Given the description of an element on the screen output the (x, y) to click on. 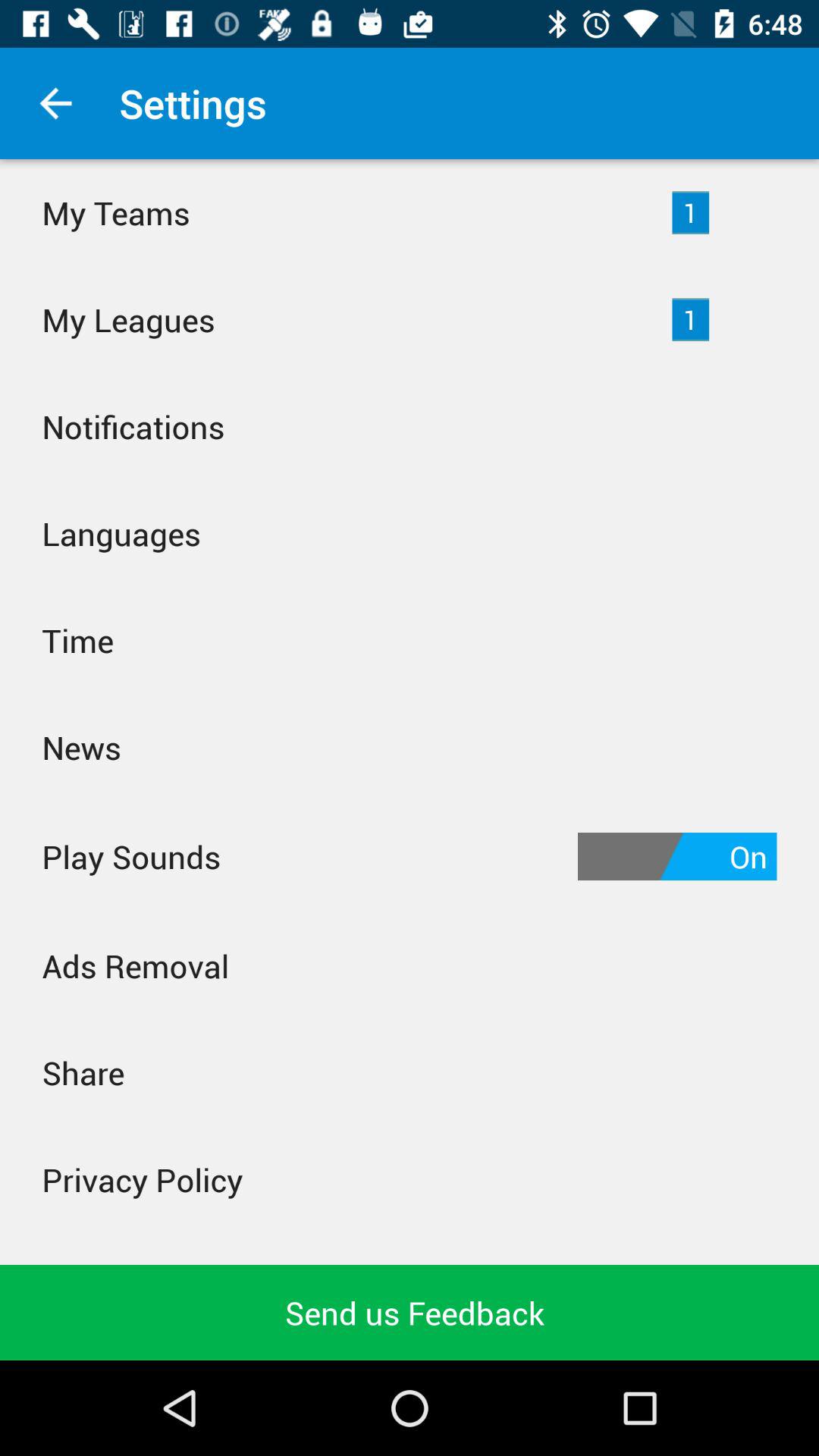
click item to the left of the settings (55, 103)
